Given the description of an element on the screen output the (x, y) to click on. 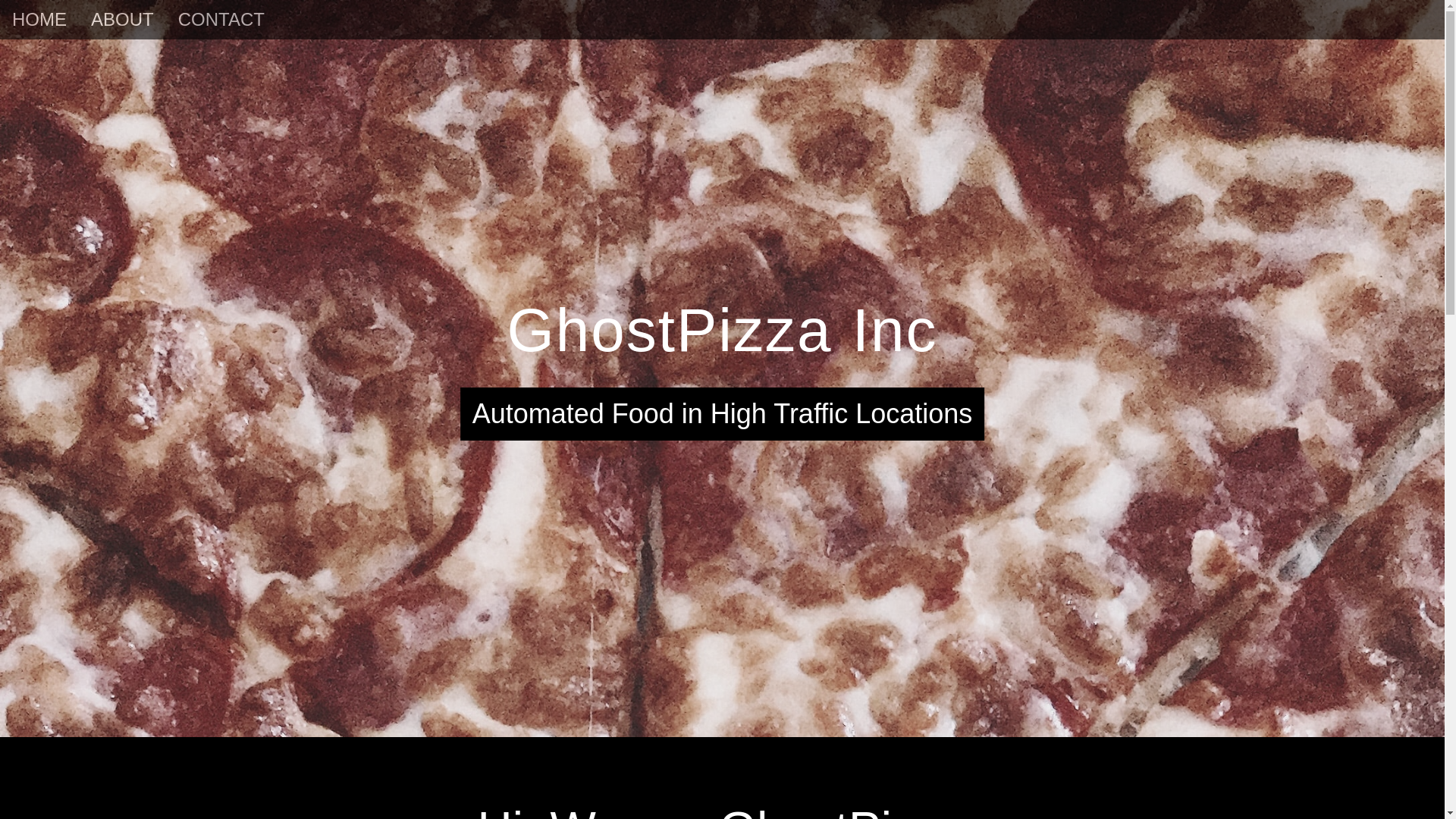
Automated Food in High Traffic Locations (722, 413)
ABOUT (121, 19)
CONTACT (220, 19)
HOME (39, 19)
